Given the description of an element on the screen output the (x, y) to click on. 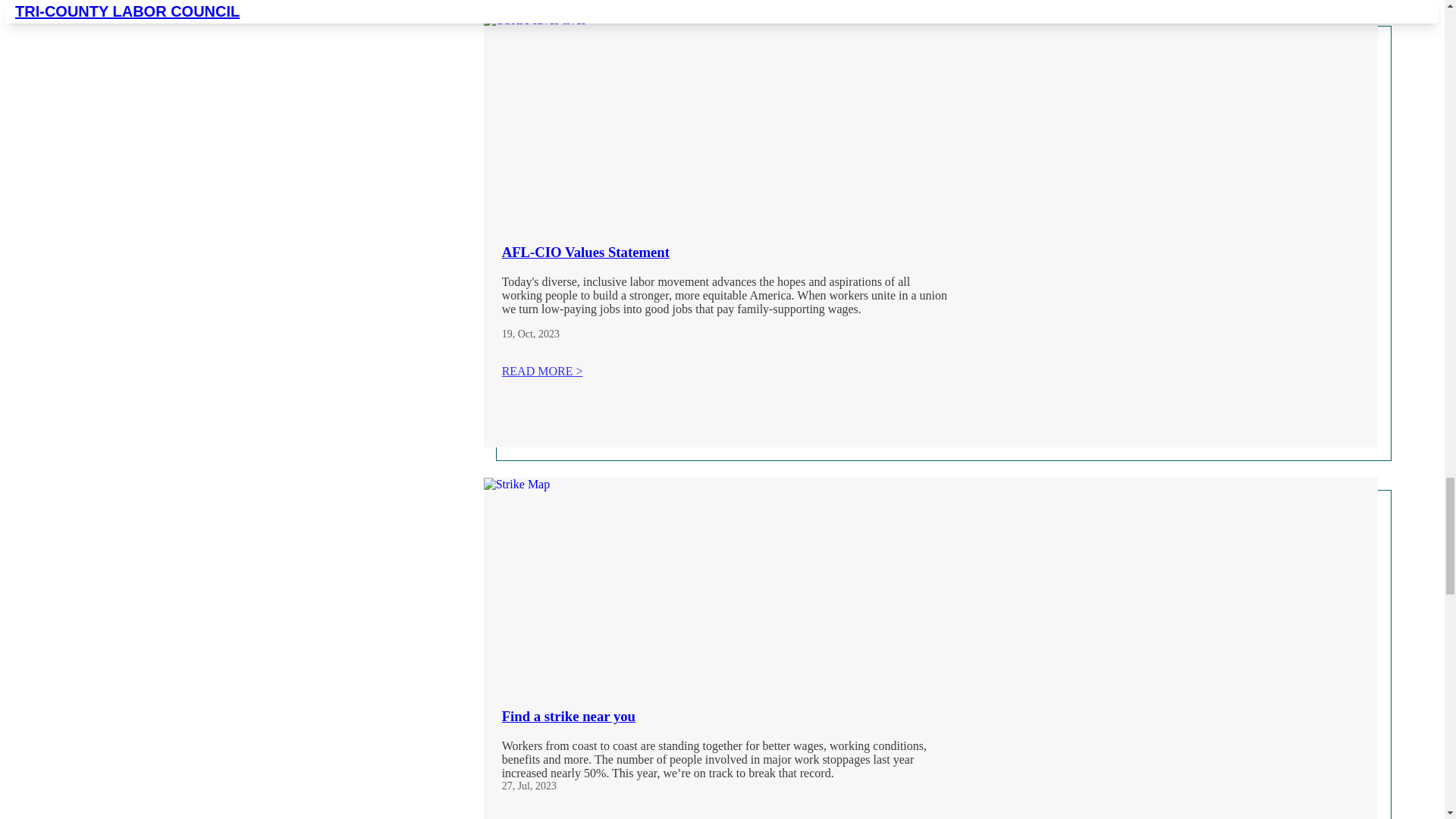
Thursday, October 19, 2023 - 10:07 (507, 333)
Thursday, October 19, 2023 - 10:07 (538, 333)
AFL-CIO Values Statement (585, 252)
AFL-CIO Values Statement (703, 115)
Thursday, July 27, 2023 - 15:16 (537, 785)
Thursday, July 27, 2023 - 15:16 (507, 785)
